Given the description of an element on the screen output the (x, y) to click on. 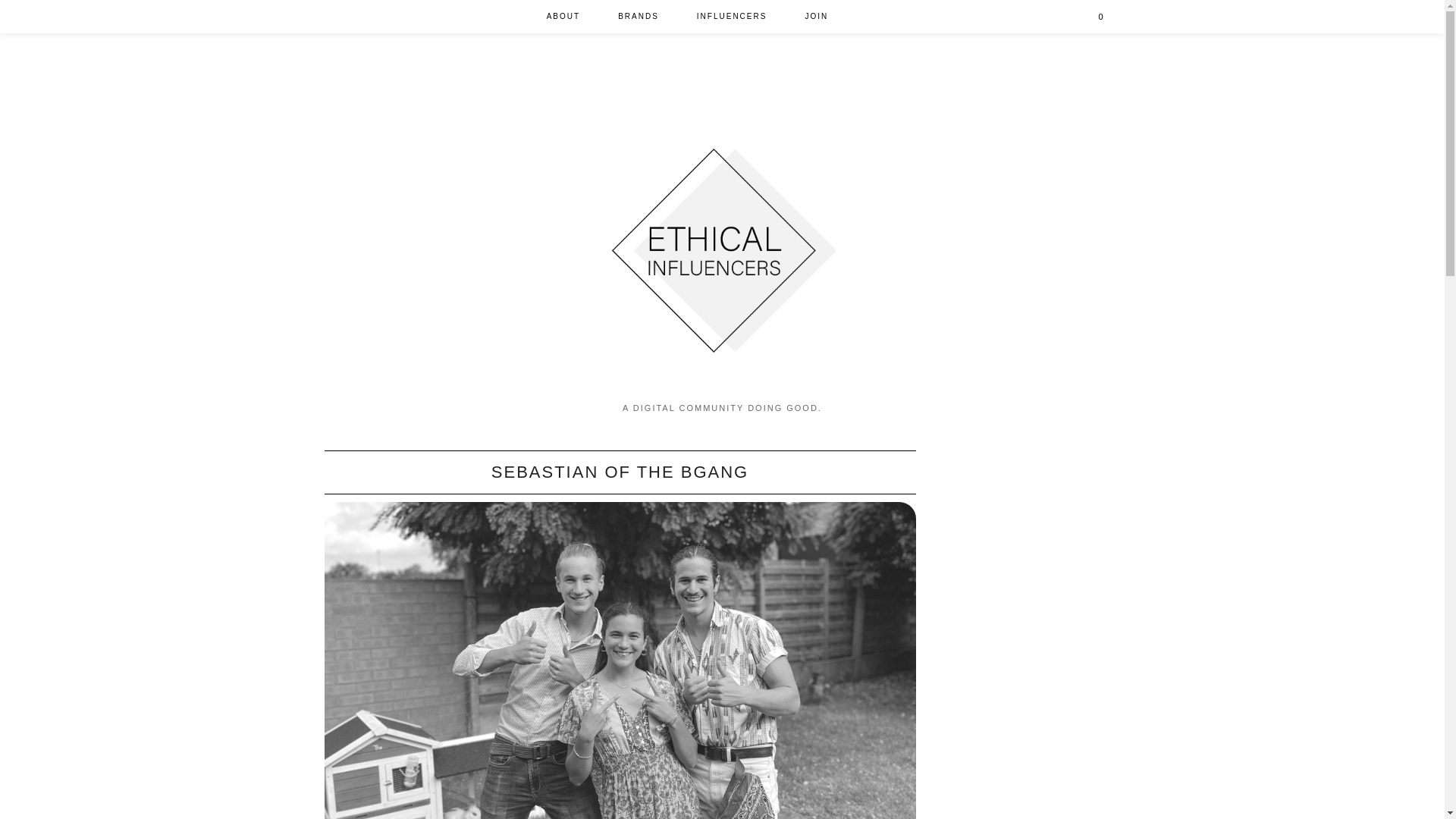
JOIN (816, 16)
INFLUENCERS (732, 16)
BRANDS (638, 16)
ABOUT (562, 16)
